Given the description of an element on the screen output the (x, y) to click on. 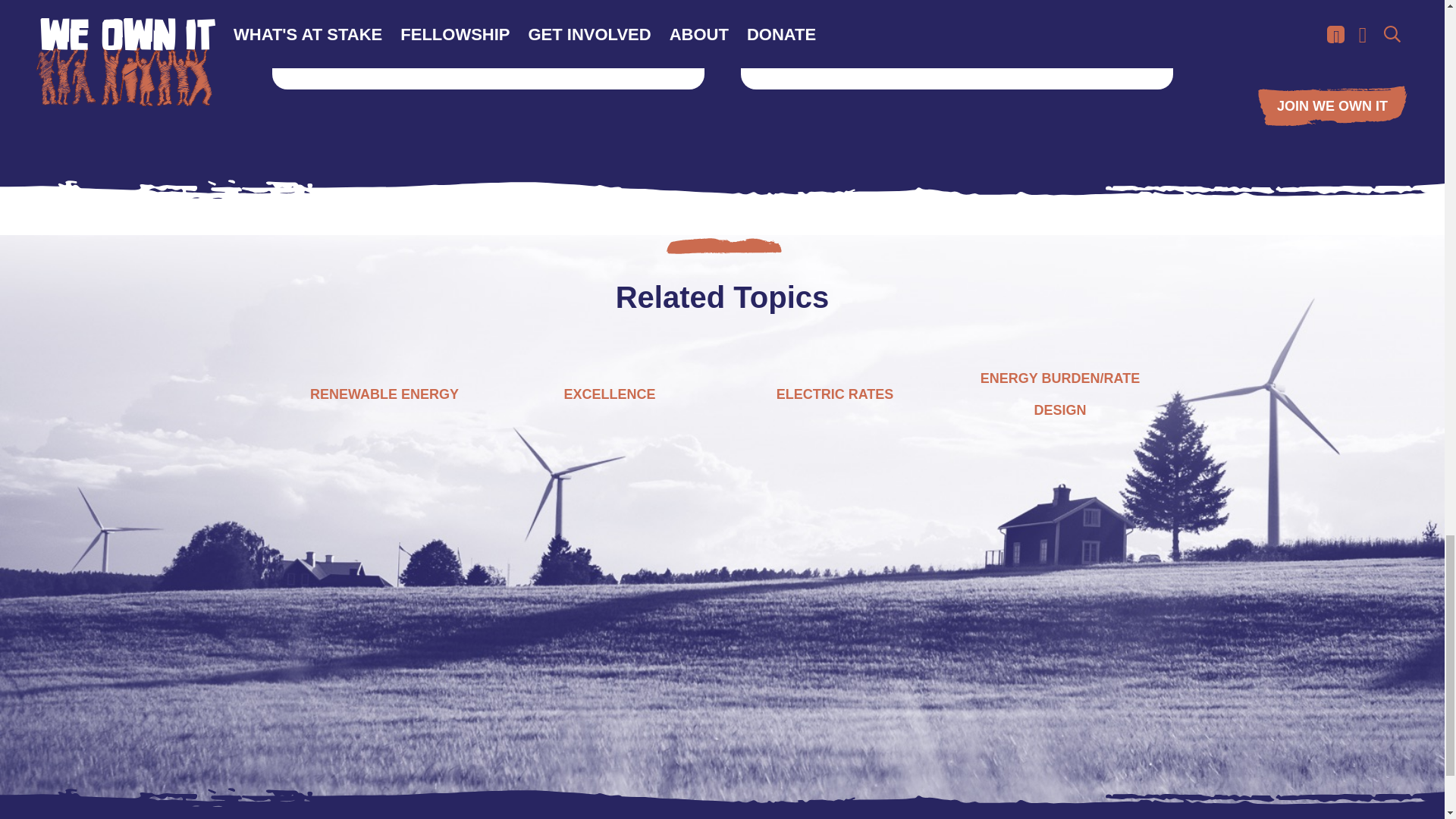
EXCELLENCE (609, 394)
RENEWABLE ENERGY (384, 394)
ELECTRIC RATES (834, 394)
